Given the description of an element on the screen output the (x, y) to click on. 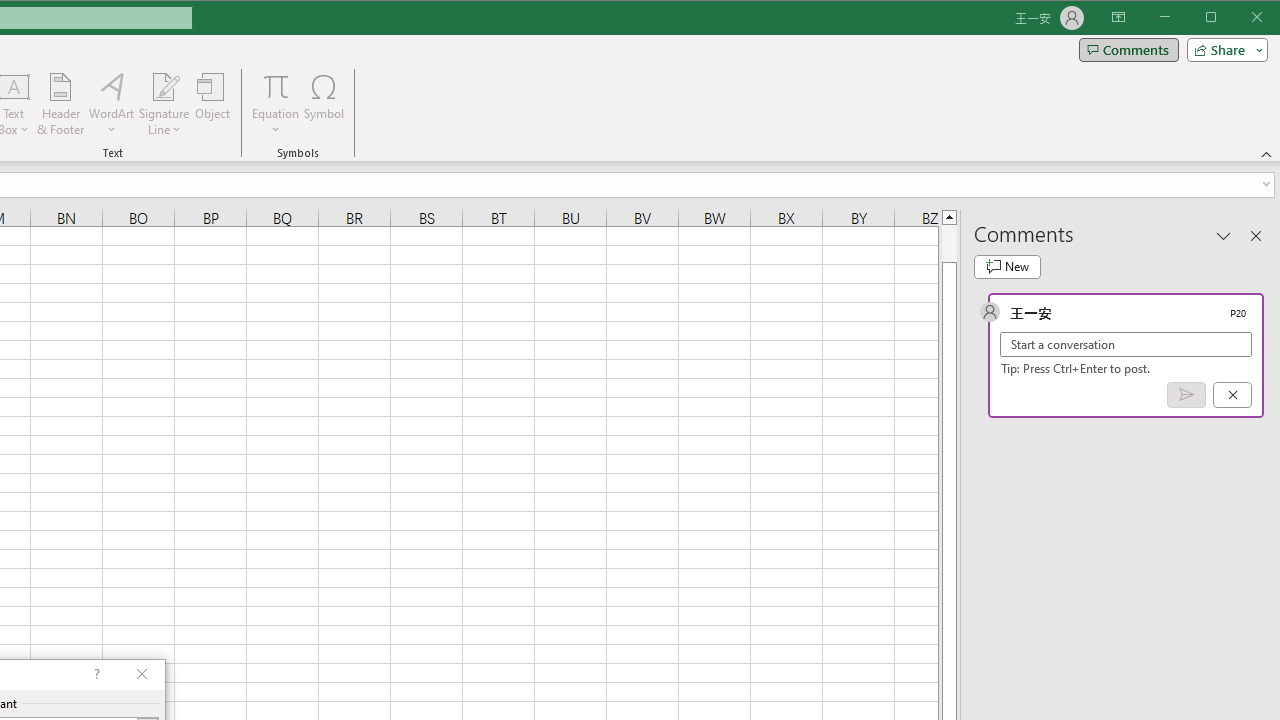
New comment (1007, 266)
Object... (213, 104)
Cancel (1232, 395)
WordArt (111, 104)
Post comment (Ctrl + Enter) (1186, 395)
Start a conversation (1126, 344)
Signature Line (164, 86)
Symbol... (324, 104)
Page up (948, 243)
